Given the description of an element on the screen output the (x, y) to click on. 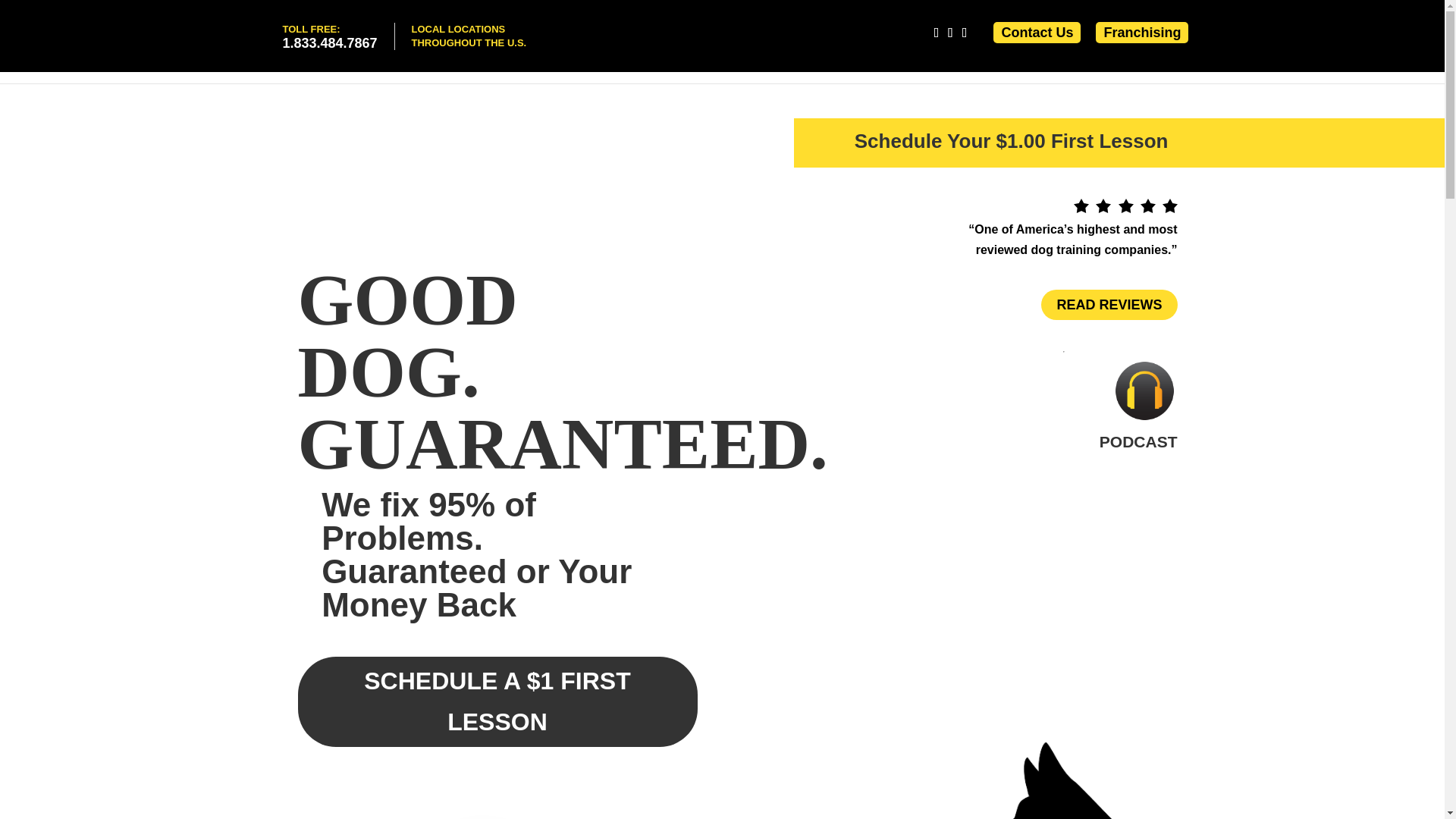
Franchising (1142, 31)
Testimonials (1075, 65)
PODCAST (1138, 441)
Training Services (1175, 65)
Schedule Lesson (915, 65)
READ REVIEWS (1108, 305)
More (1263, 65)
About Us (329, 36)
Contact Us (832, 65)
